Given the description of an element on the screen output the (x, y) to click on. 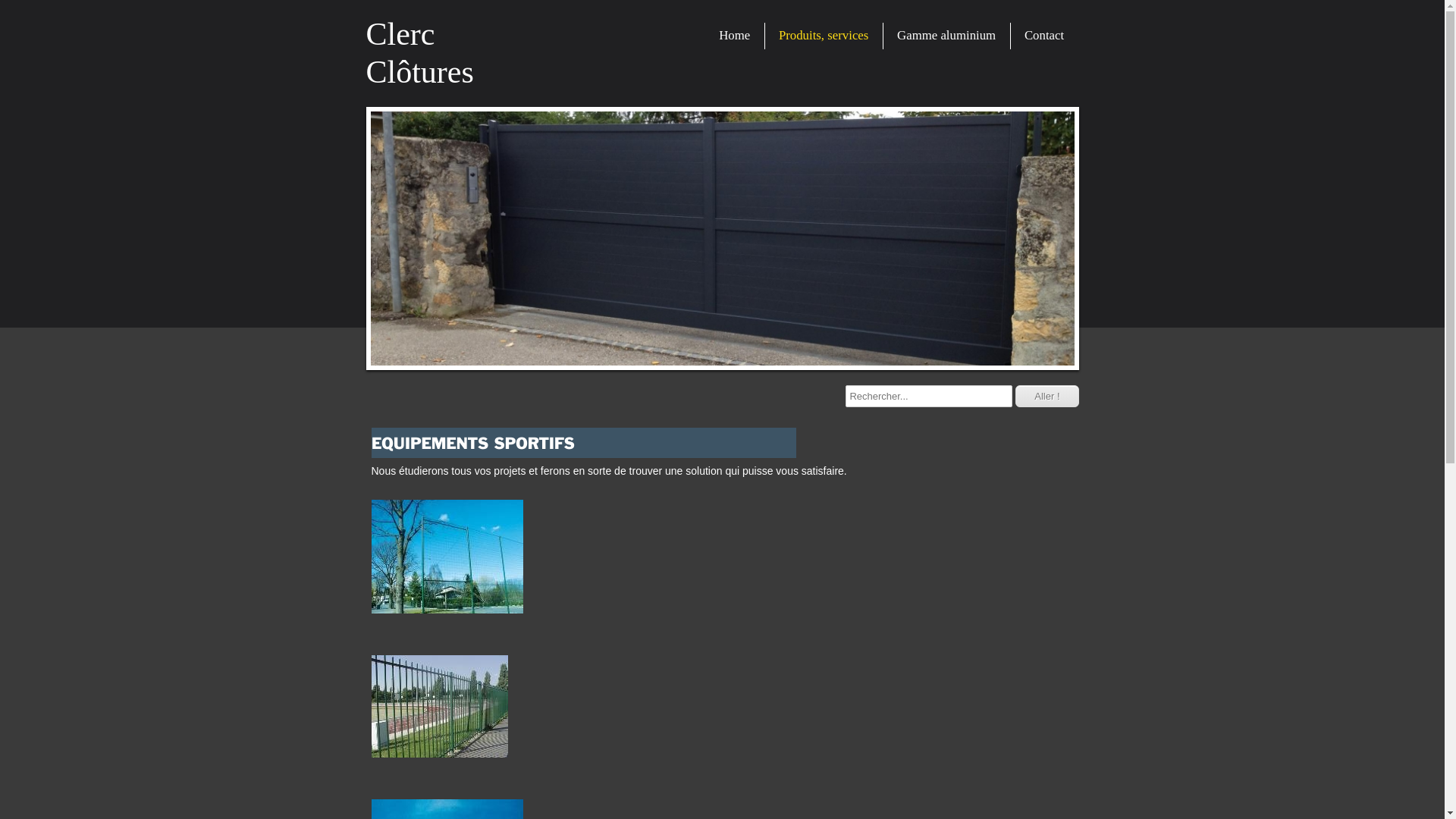
Gamme aluminium Element type: text (946, 35)
Contact Element type: text (1043, 35)
Home Element type: text (734, 35)
Produits, services Element type: text (823, 35)
